Given the description of an element on the screen output the (x, y) to click on. 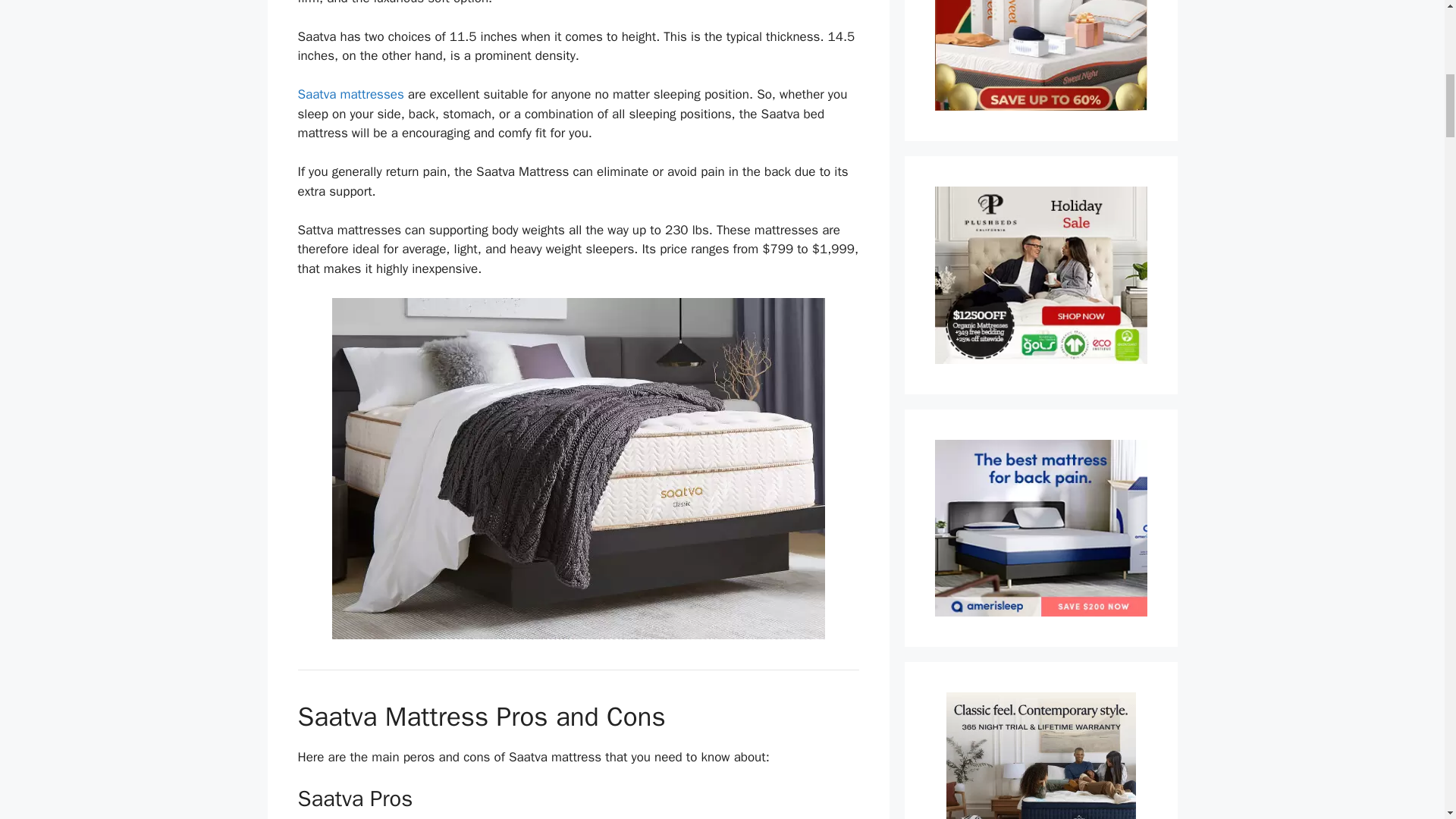
Saatva mattresses (350, 94)
